Given the description of an element on the screen output the (x, y) to click on. 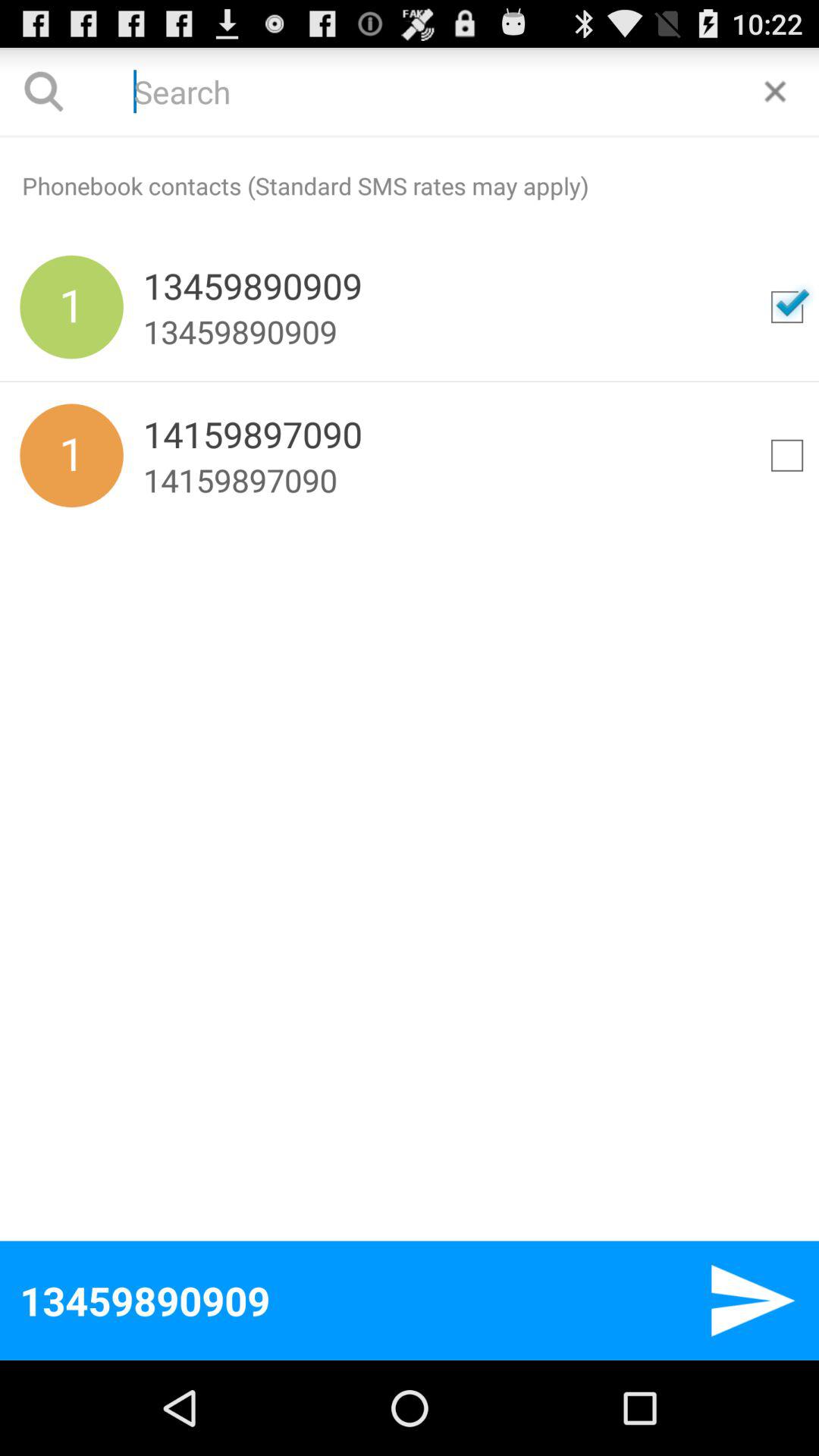
search phonebook (409, 91)
